Given the description of an element on the screen output the (x, y) to click on. 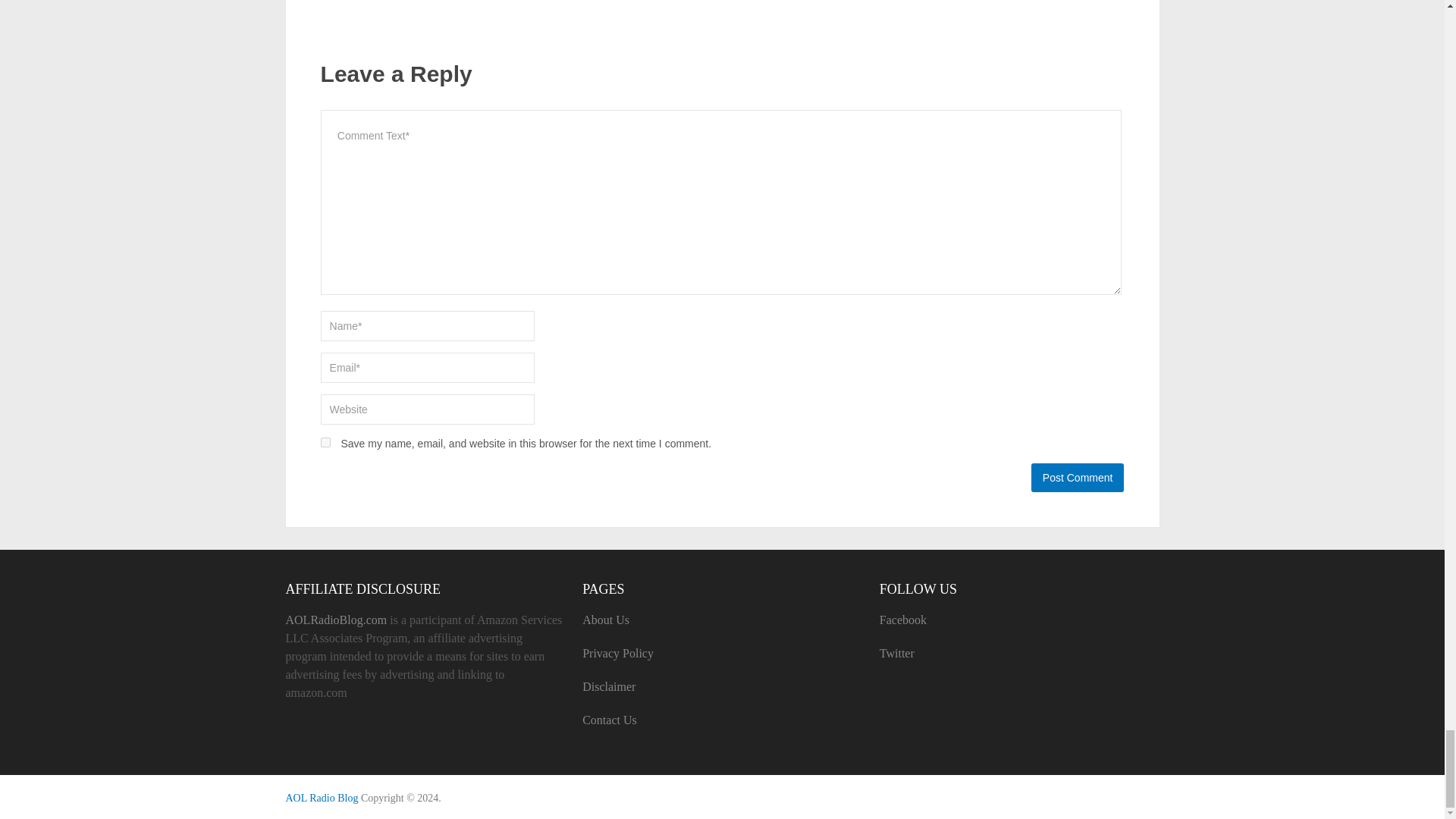
Privacy Policy (617, 653)
AOL Radio Blog (321, 797)
Post Comment (1077, 477)
Twitter (896, 653)
About Us (605, 619)
Contact Us (609, 719)
Disclaimer (608, 686)
AOLRadioBlog.com (336, 619)
Facebook (902, 619)
Post Comment (1077, 477)
yes (325, 442)
